Given the description of an element on the screen output the (x, y) to click on. 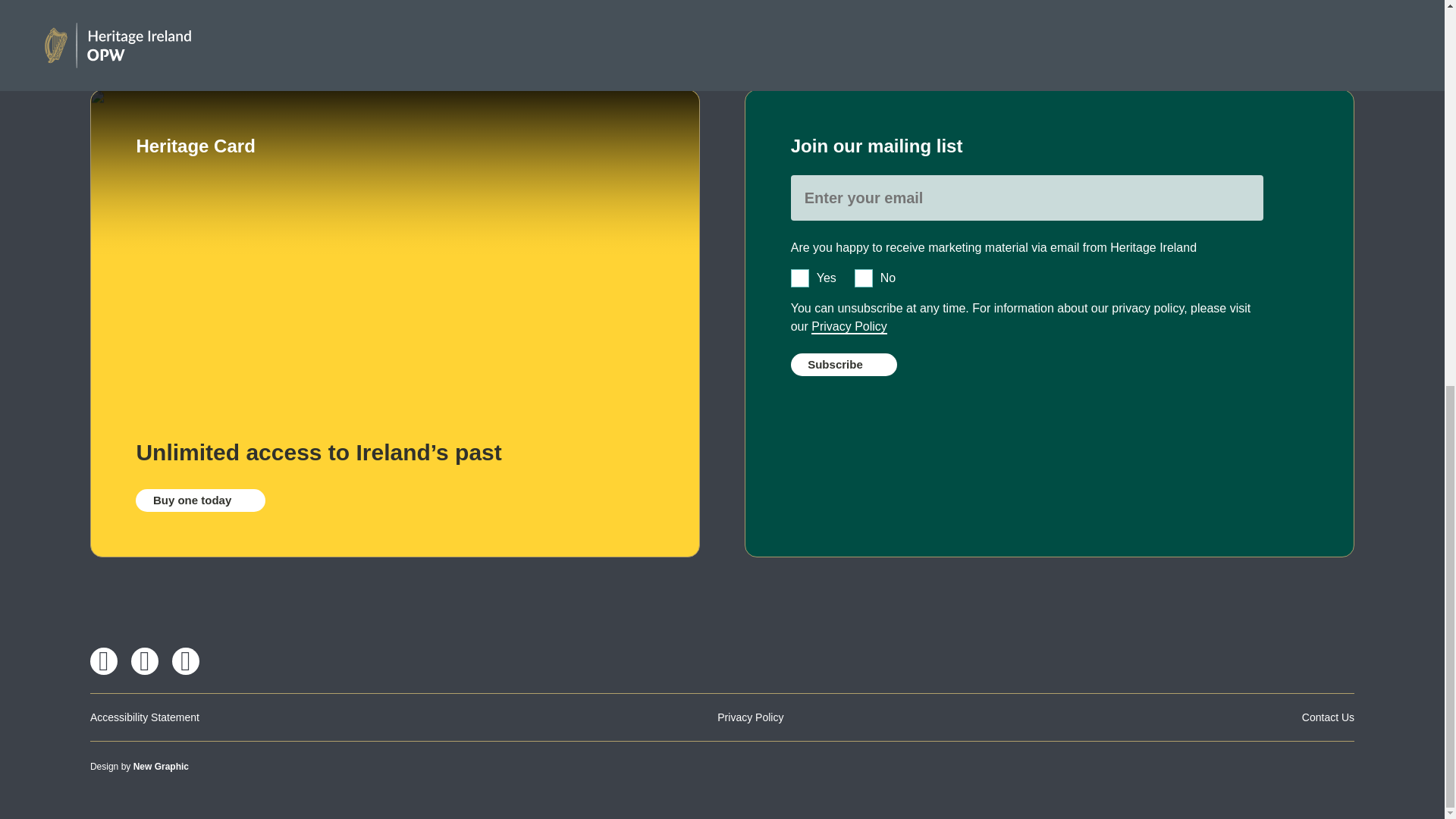
Privacy Policy (750, 717)
Contact Us (1327, 717)
Accessibility Statement (144, 717)
Privacy Policy (848, 327)
Buy one today (199, 499)
Subscribe (843, 363)
Design by New Graphic (139, 766)
